Given the description of an element on the screen output the (x, y) to click on. 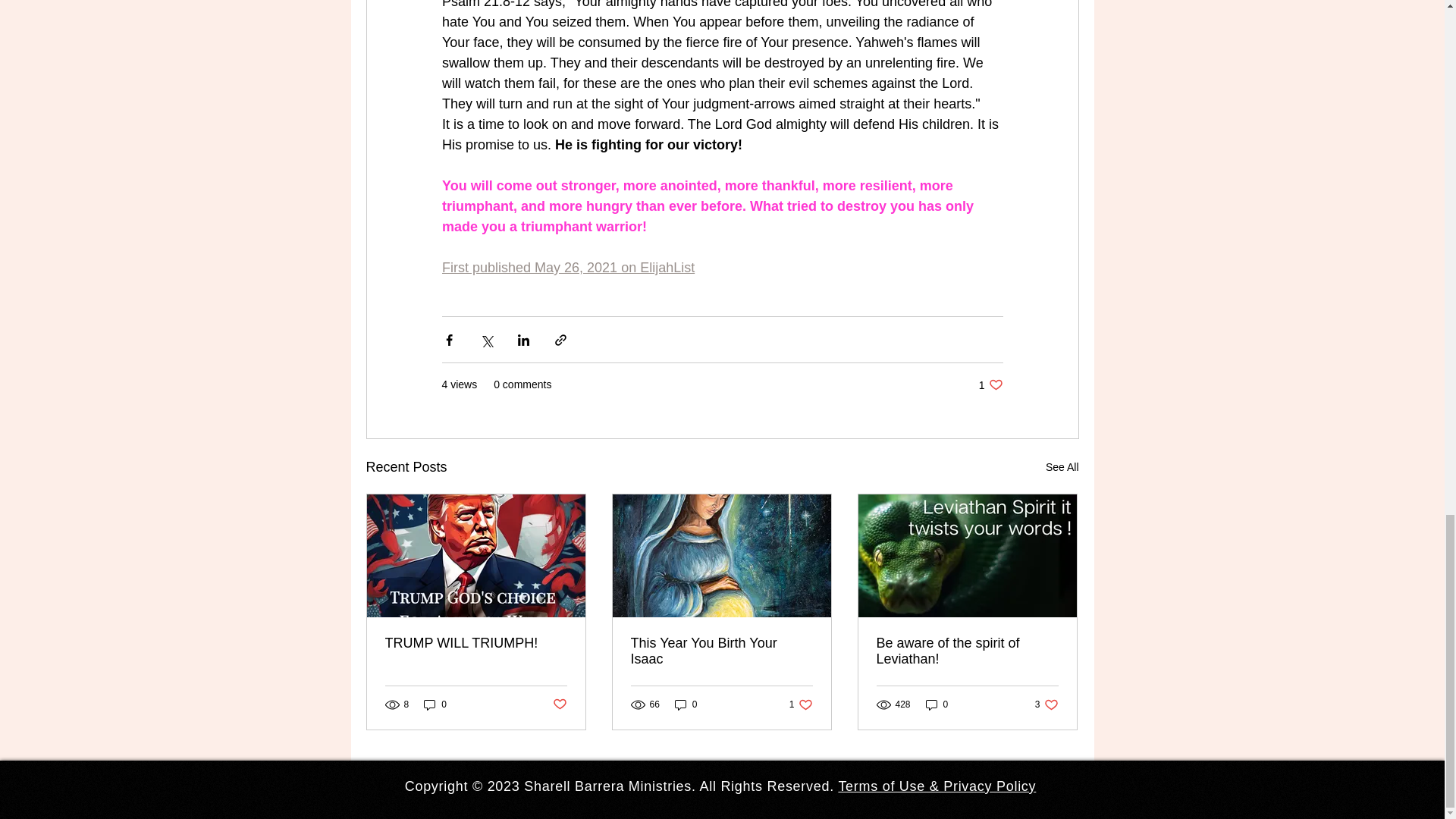
TRUMP WILL TRIUMPH! (476, 643)
Post not marked as liked (558, 704)
See All (1061, 467)
0 (937, 703)
Be aware of the spirit of Leviathan! (990, 384)
0 (967, 651)
This Year You Birth Your Isaac (685, 703)
0 (721, 651)
